Given the description of an element on the screen output the (x, y) to click on. 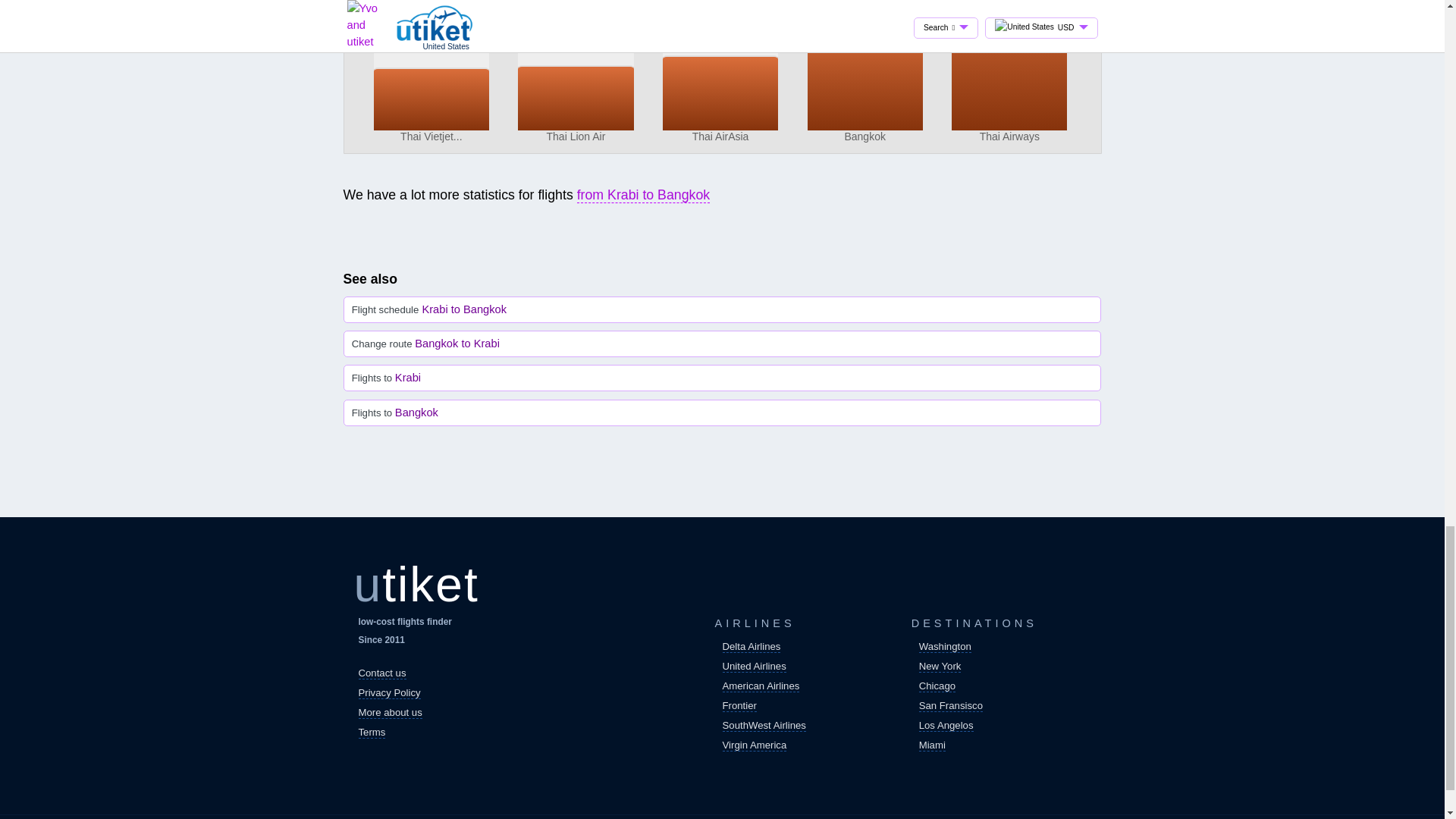
Utiket on Twitter (411, 760)
More about us (390, 712)
Terms (371, 732)
Contact us (382, 673)
Flights to Bangkok (721, 412)
Privacy Policy (389, 693)
Flights to Krabi (721, 377)
Change route Bangkok to Krabi (721, 343)
Flight schedule Krabi to Bangkok (721, 309)
Utiket on Facebook (374, 760)
from Krabi to Bangkok (643, 195)
